Given the description of an element on the screen output the (x, y) to click on. 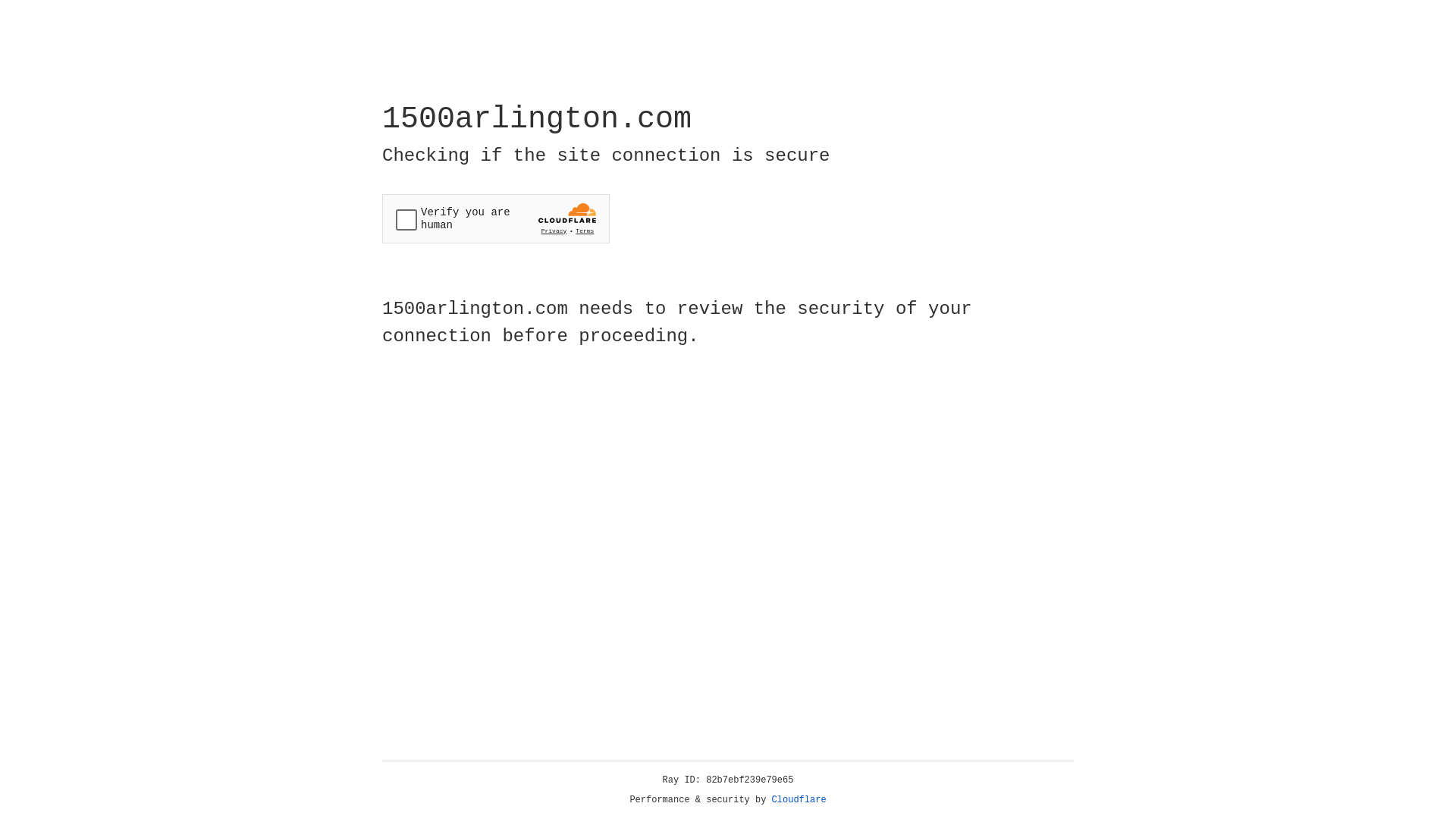
Widget containing a Cloudflare security challenge Element type: hover (495, 218)
Cloudflare Element type: text (798, 799)
